Given the description of an element on the screen output the (x, y) to click on. 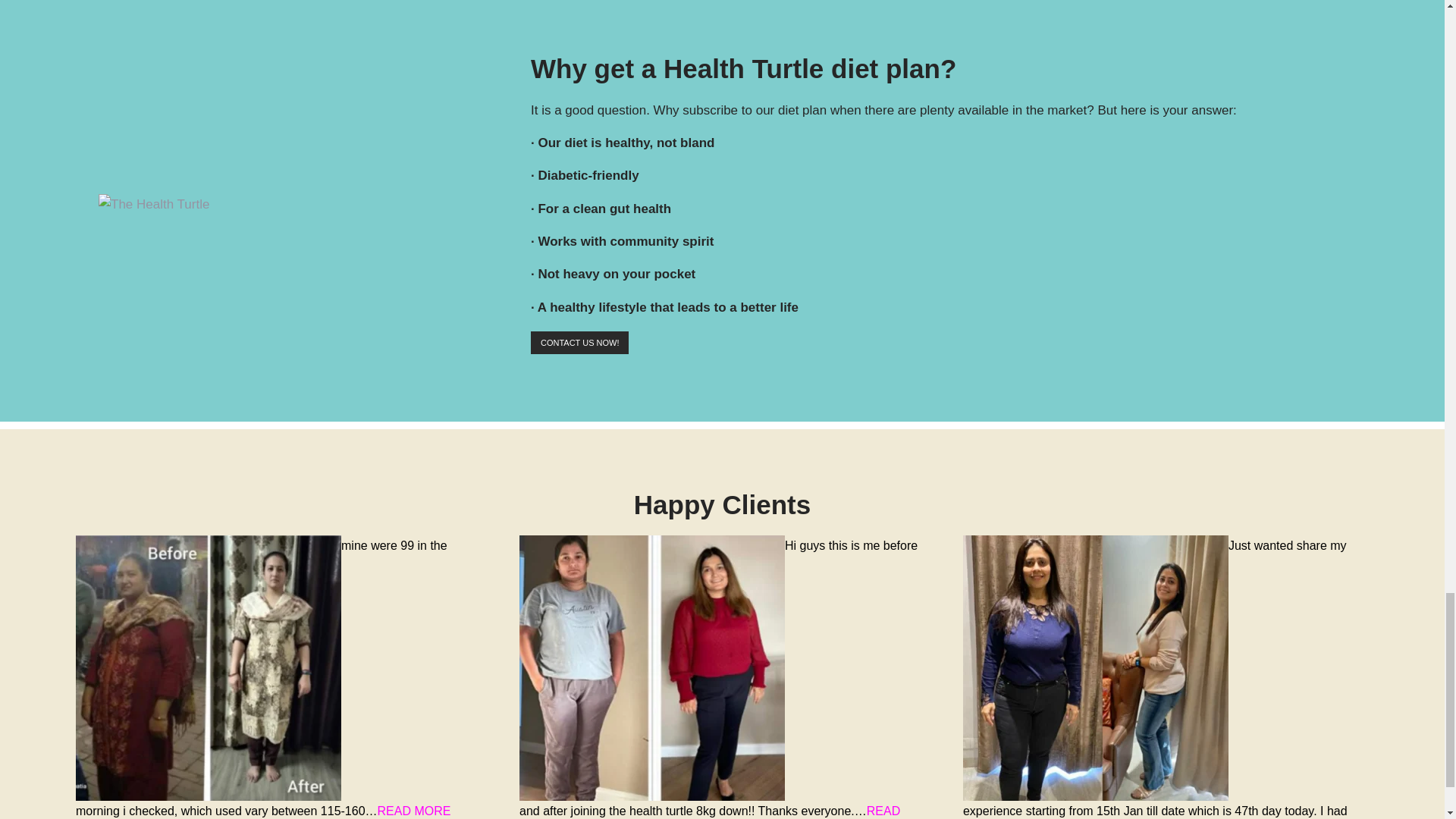
CONTACT US NOW! (579, 342)
READ MORE (414, 810)
READ MORE (709, 811)
